Given the description of an element on the screen output the (x, y) to click on. 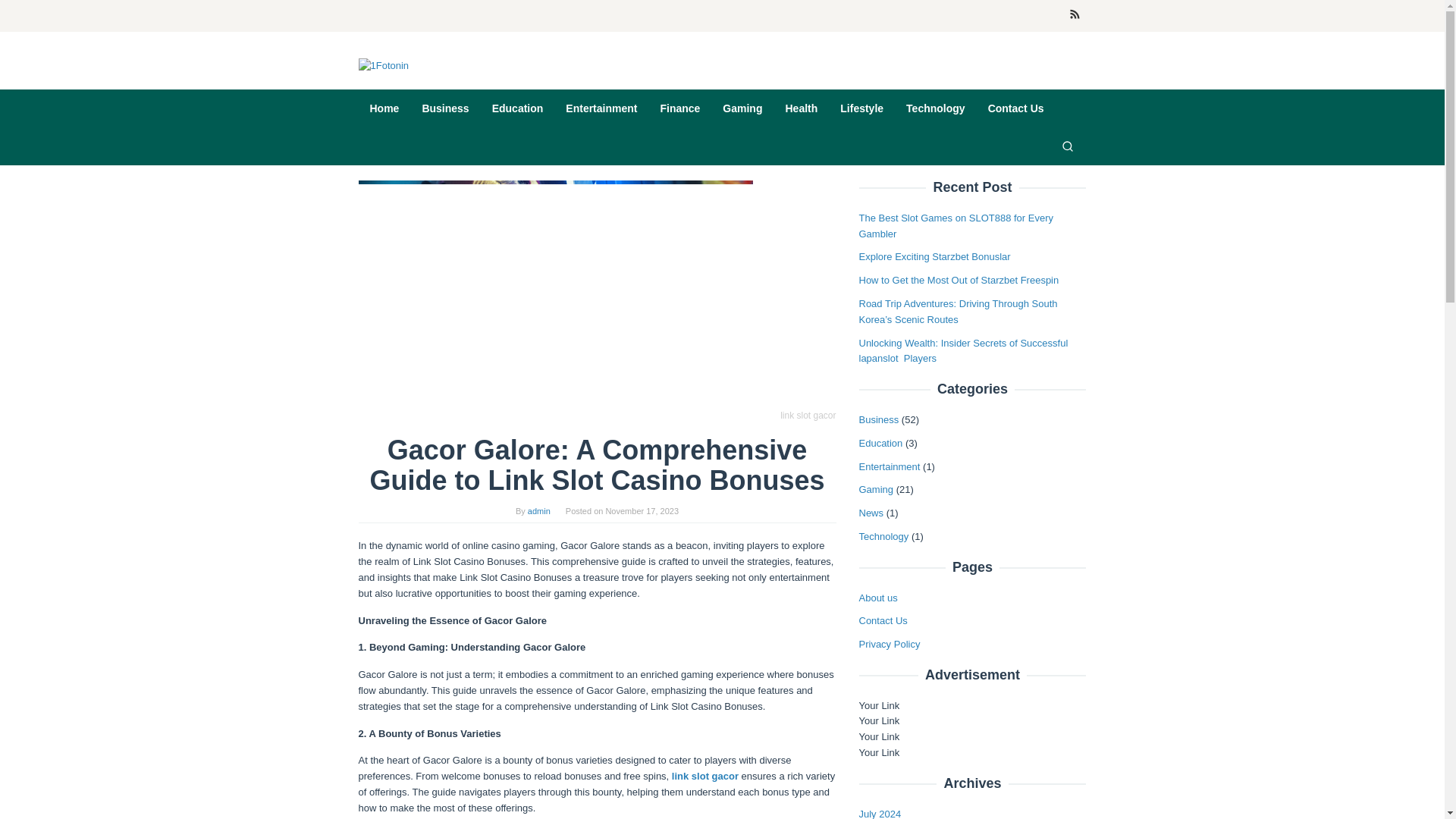
Entertainment (889, 466)
Gaming (742, 108)
News (871, 512)
Education (880, 442)
Gaming (876, 489)
admin (538, 510)
Home (384, 108)
About us (877, 596)
Health (800, 108)
1Fotonin (383, 65)
Business (445, 108)
Permalink to: admin (538, 510)
Lifestyle (861, 108)
1Fotonin (383, 66)
Explore Exciting Starzbet Bonuslar (934, 256)
